Given the description of an element on the screen output the (x, y) to click on. 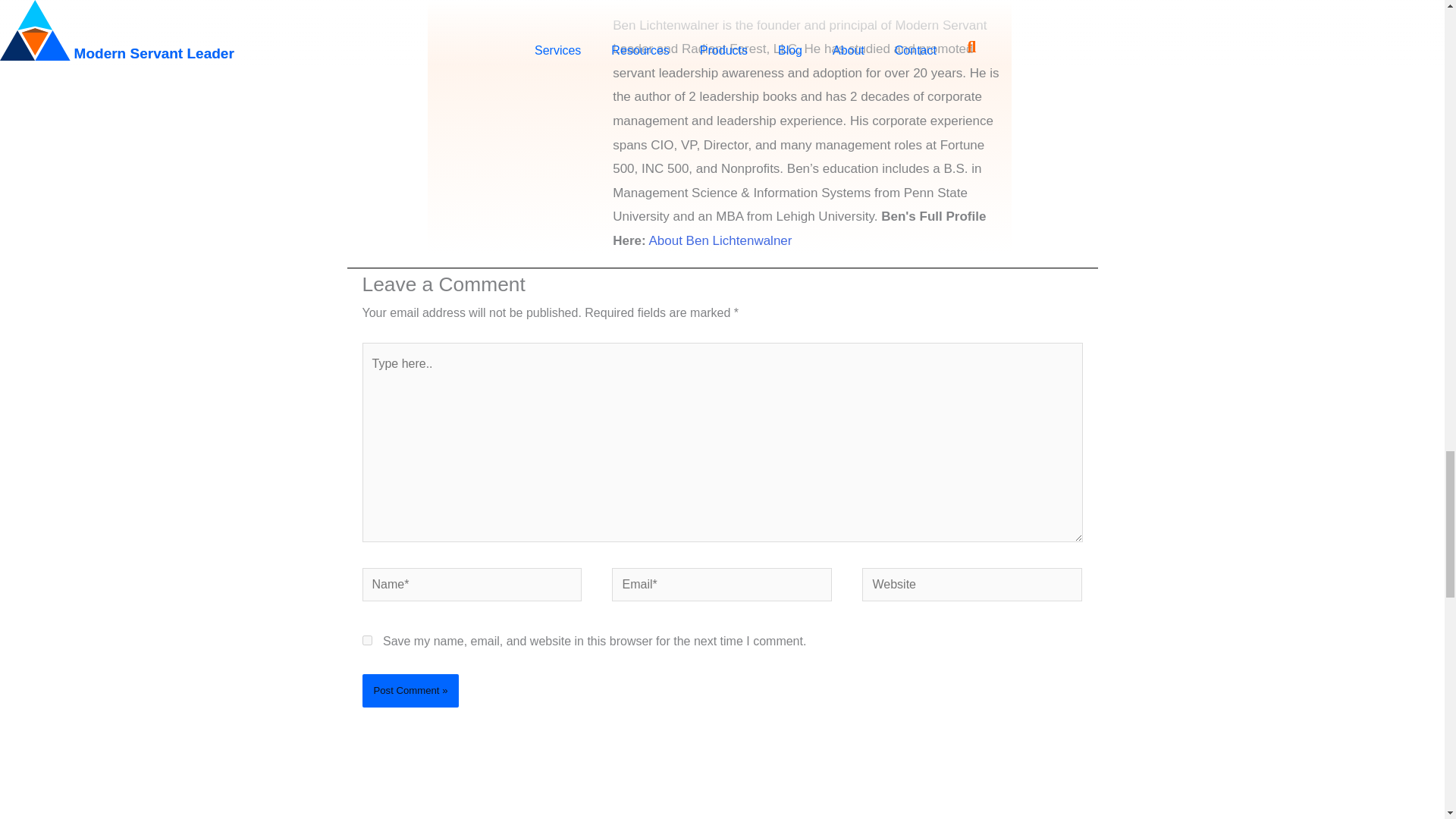
yes (367, 640)
